Given the description of an element on the screen output the (x, y) to click on. 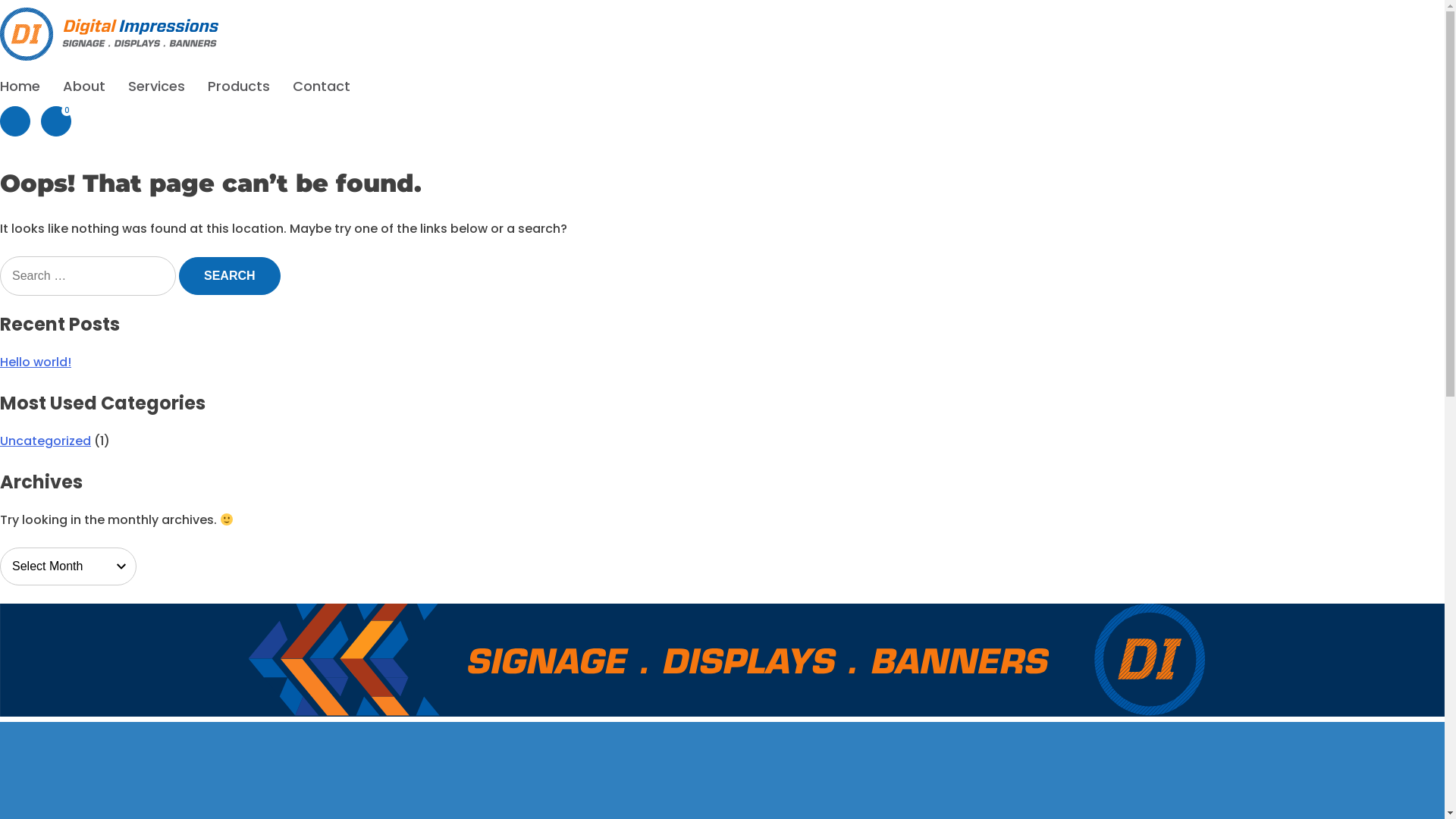
0 Element type: text (55, 121)
About Element type: text (83, 85)
Hello world! Element type: text (35, 361)
Contact Element type: text (321, 85)
Uncategorized Element type: text (45, 440)
Home Element type: text (20, 85)
Services Element type: text (156, 85)
Search Element type: text (229, 275)
Products Element type: text (238, 85)
